Given the description of an element on the screen output the (x, y) to click on. 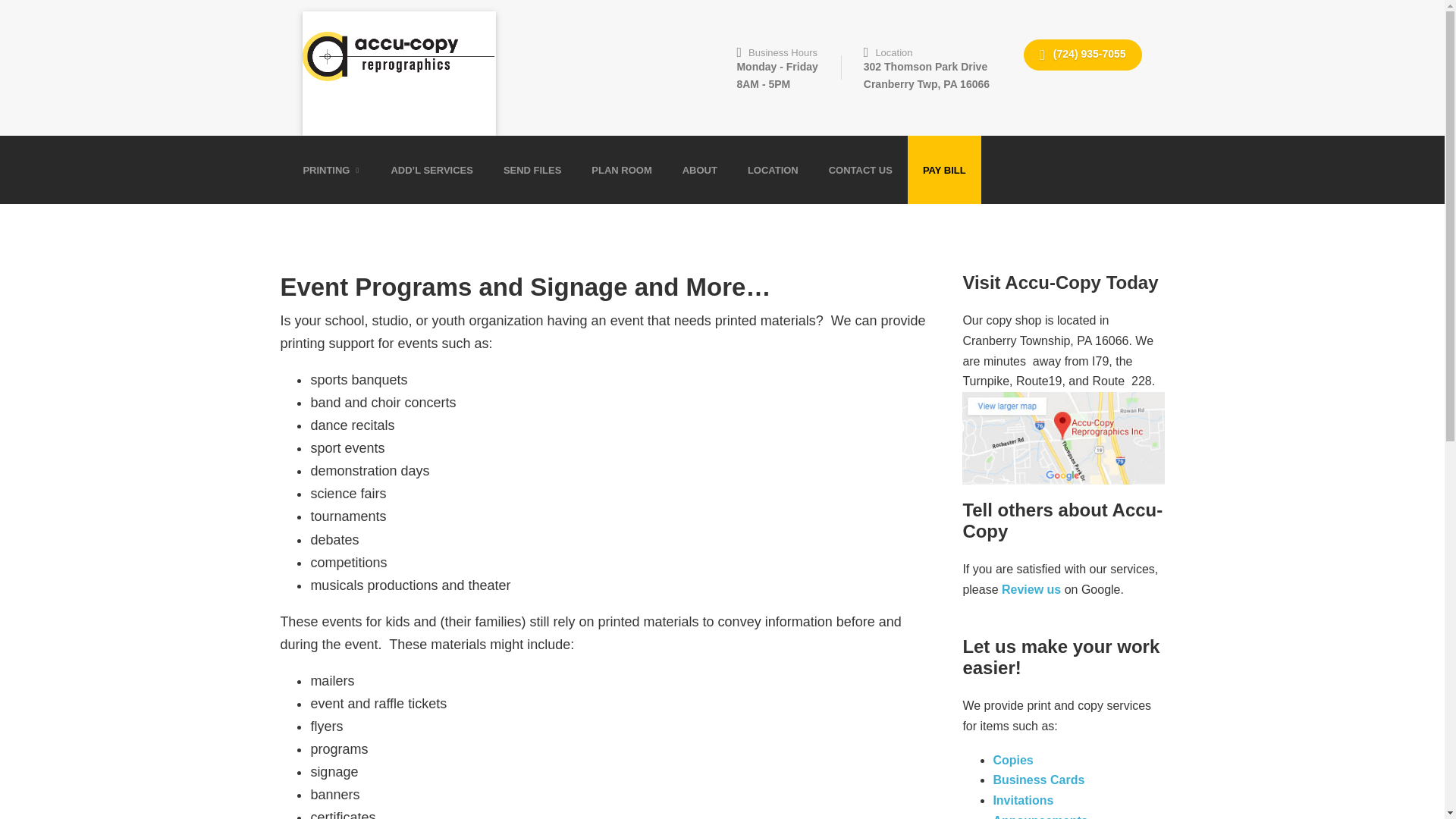
Review us (920, 67)
ABOUT (1032, 589)
PLAN ROOM (699, 169)
PAY BILL (621, 169)
SEND FILES (944, 169)
LOCATION (531, 169)
Copies  (772, 169)
Business Cards (1014, 759)
CONTACT US (1038, 779)
